Given the description of an element on the screen output the (x, y) to click on. 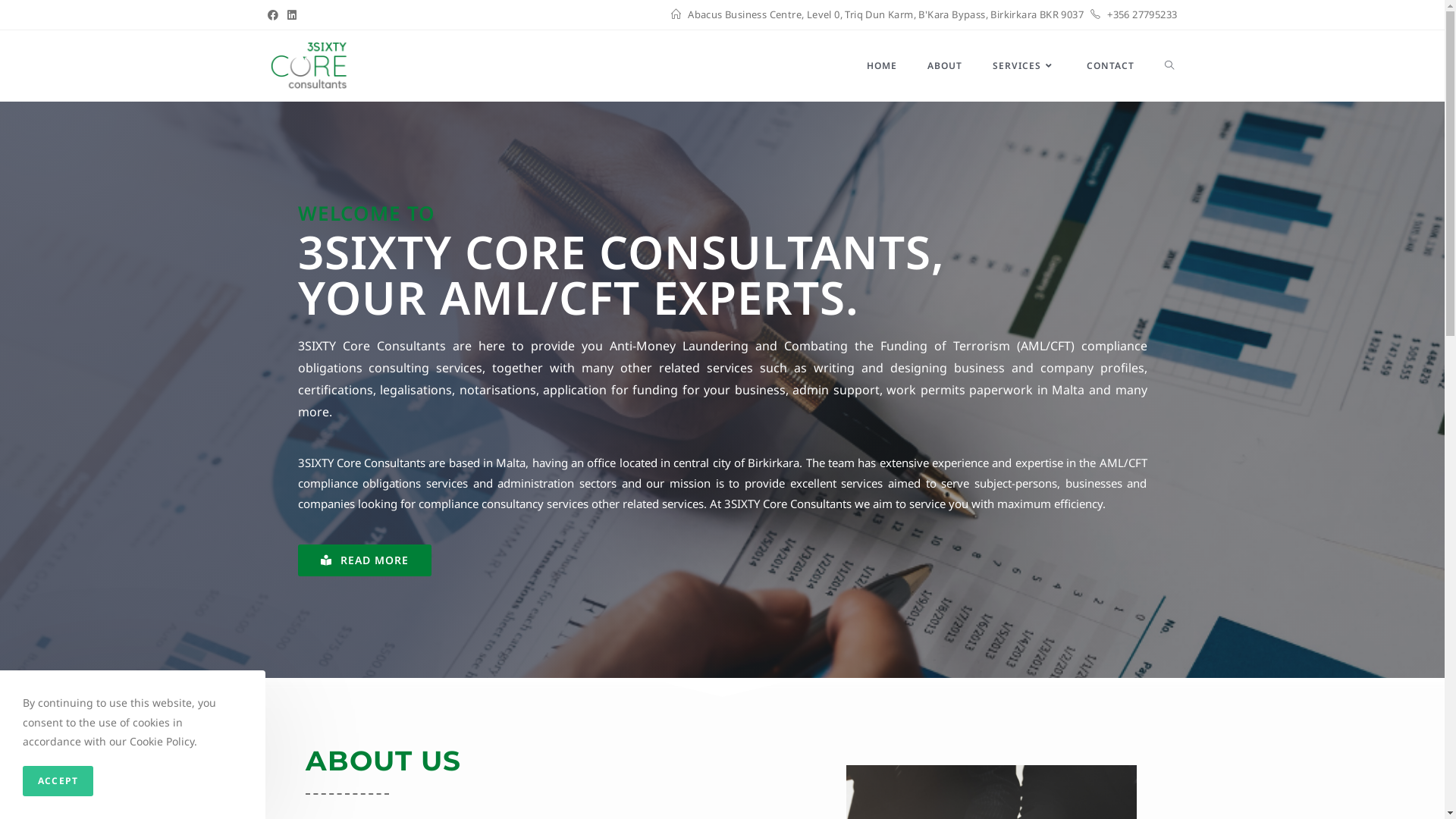
SERVICES Element type: text (1023, 65)
READ MORE Element type: text (363, 560)
HOME Element type: text (880, 65)
CONTACT Element type: text (1109, 65)
ABOUT Element type: text (943, 65)
ACCEPT Element type: text (57, 780)
